Given the description of an element on the screen output the (x, y) to click on. 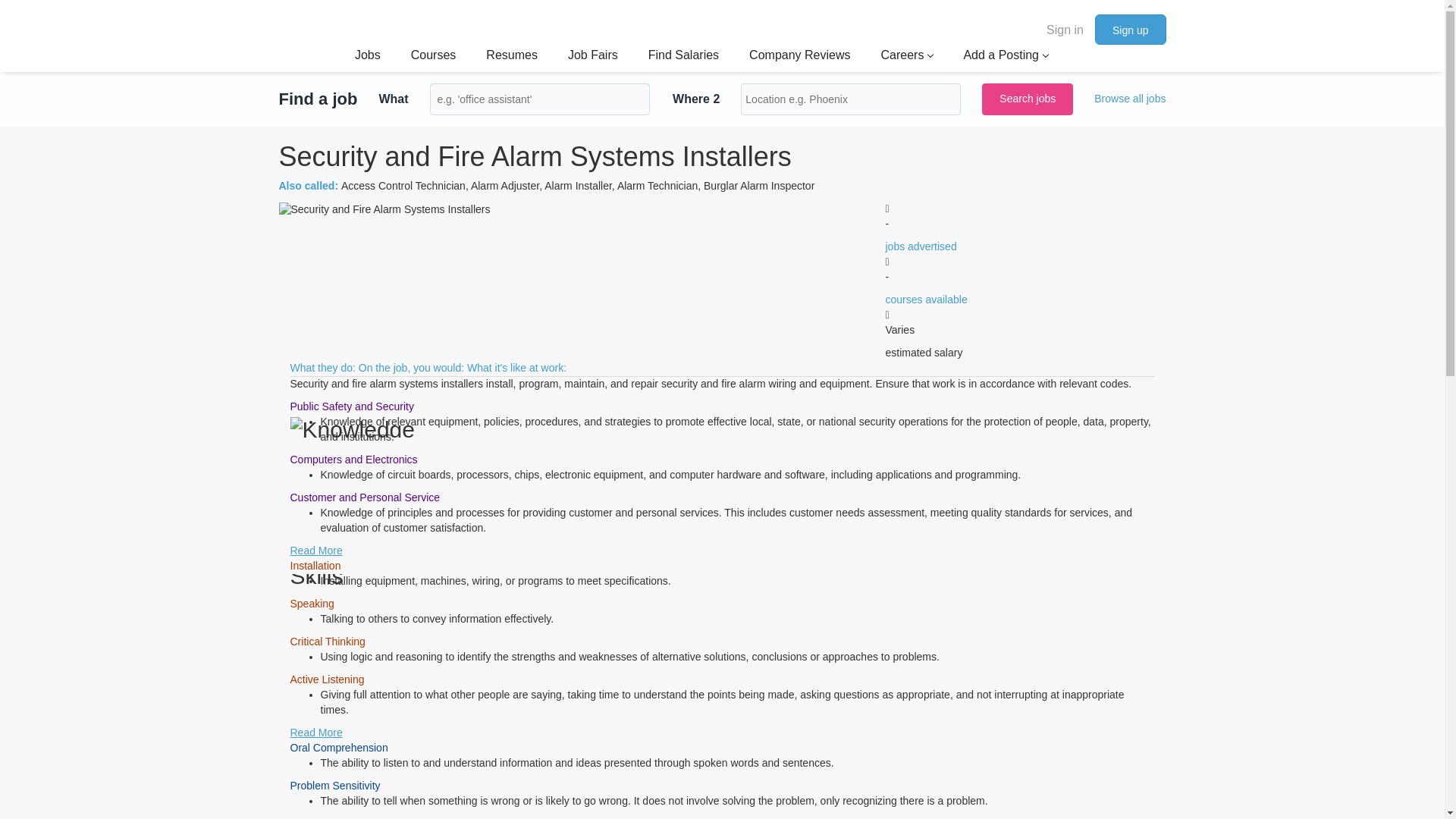
Read More (315, 732)
Search jobs (1027, 99)
On the job, you would: (411, 367)
Resumes (511, 55)
Sign up (1130, 29)
jobs advertised (920, 246)
Also called: (309, 185)
What they do: (322, 367)
Courses (433, 55)
Careers (906, 55)
Read More (315, 550)
courses available (926, 299)
Add a Posting (1005, 55)
Jobs (367, 55)
Find Salaries (683, 55)
